Given the description of an element on the screen output the (x, y) to click on. 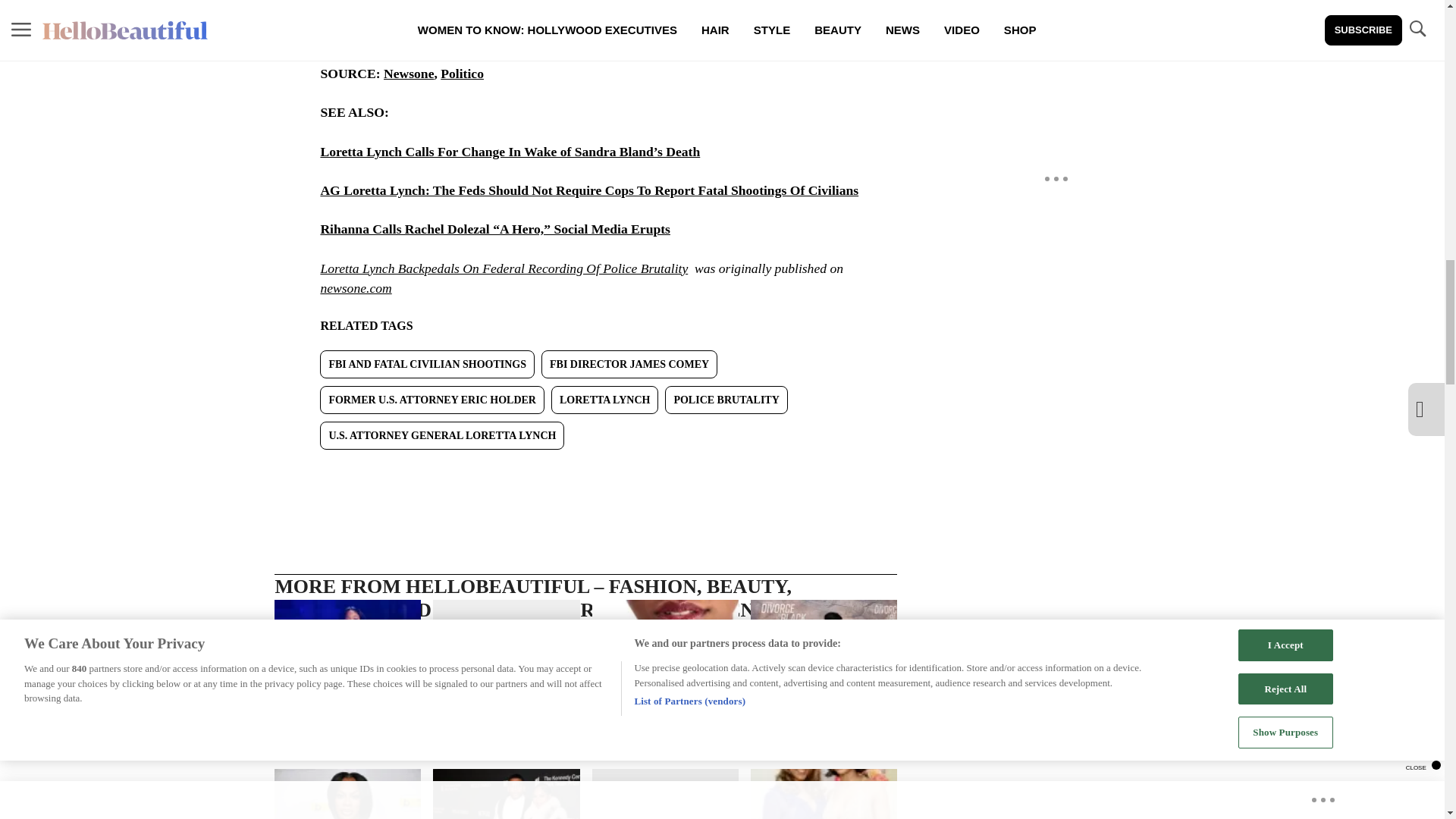
U.S. ATTORNEY GENERAL LORETTA LYNCH (442, 435)
FBI DIRECTOR JAMES COMEY (629, 364)
FBI AND FATAL CIVILIAN SHOOTINGS (427, 364)
LORETTA LYNCH (604, 399)
Politico (462, 73)
newsone.com (355, 287)
POLICE BRUTALITY (726, 399)
Newsone (408, 73)
NewsOne (427, 1)
Coi Leray Does The Big Chop And We're In Love (347, 669)
Vuukle Sharebar Widget (585, 474)
FORMER U.S. ATTORNEY ERIC HOLDER (432, 399)
